Given the description of an element on the screen output the (x, y) to click on. 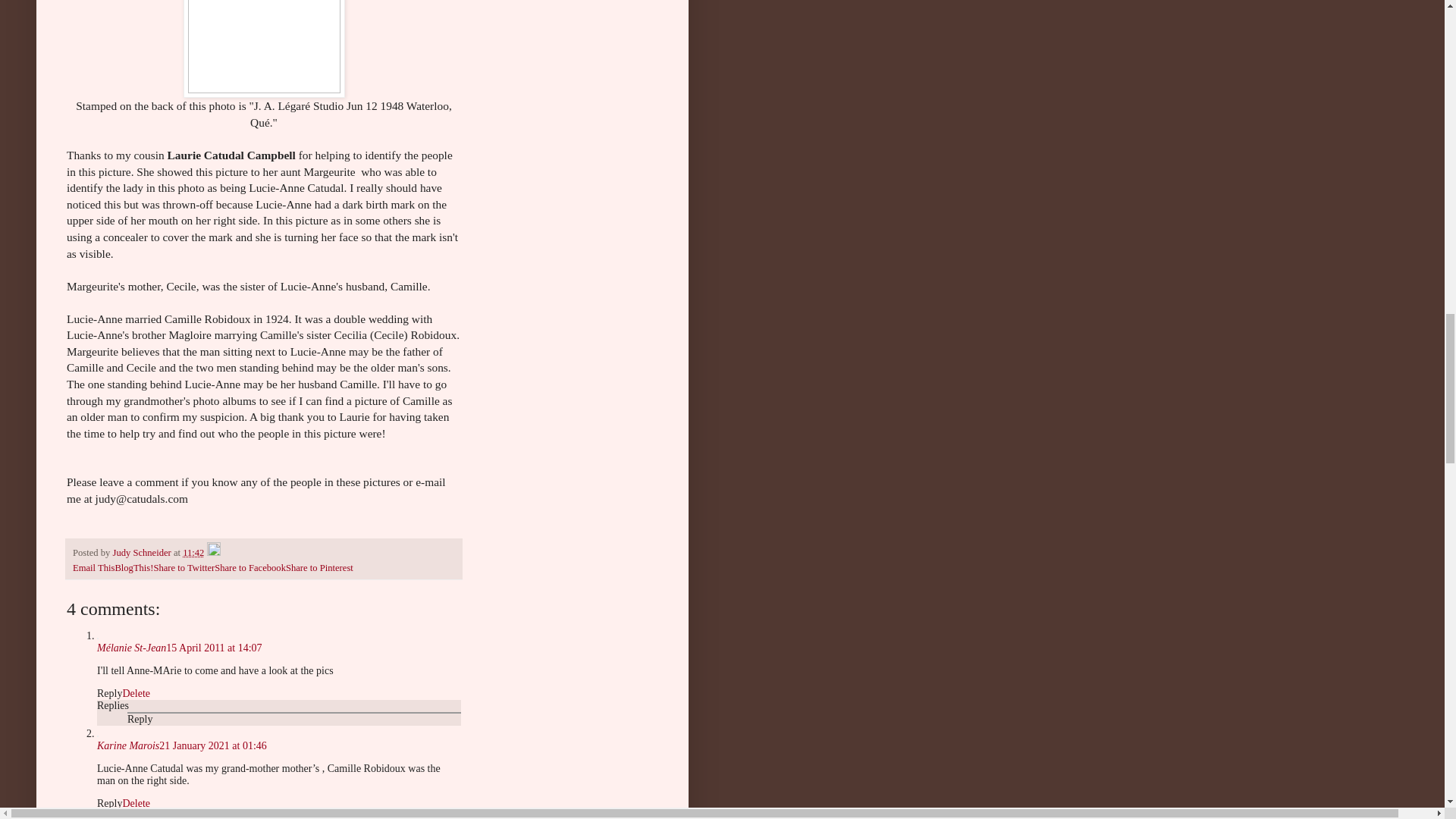
Share to Facebook (249, 567)
Share to Pinterest (319, 567)
11:42 (193, 552)
Reply (109, 803)
21 January 2021 at 01:46 (212, 745)
Delete (135, 803)
Delete (135, 693)
Email This (93, 567)
Reply (140, 718)
Share to Twitter (183, 567)
Edit Post (213, 552)
BlogThis! (133, 567)
BlogThis! (133, 567)
permanent link (193, 552)
Judy Schneider (142, 552)
